Given the description of an element on the screen output the (x, y) to click on. 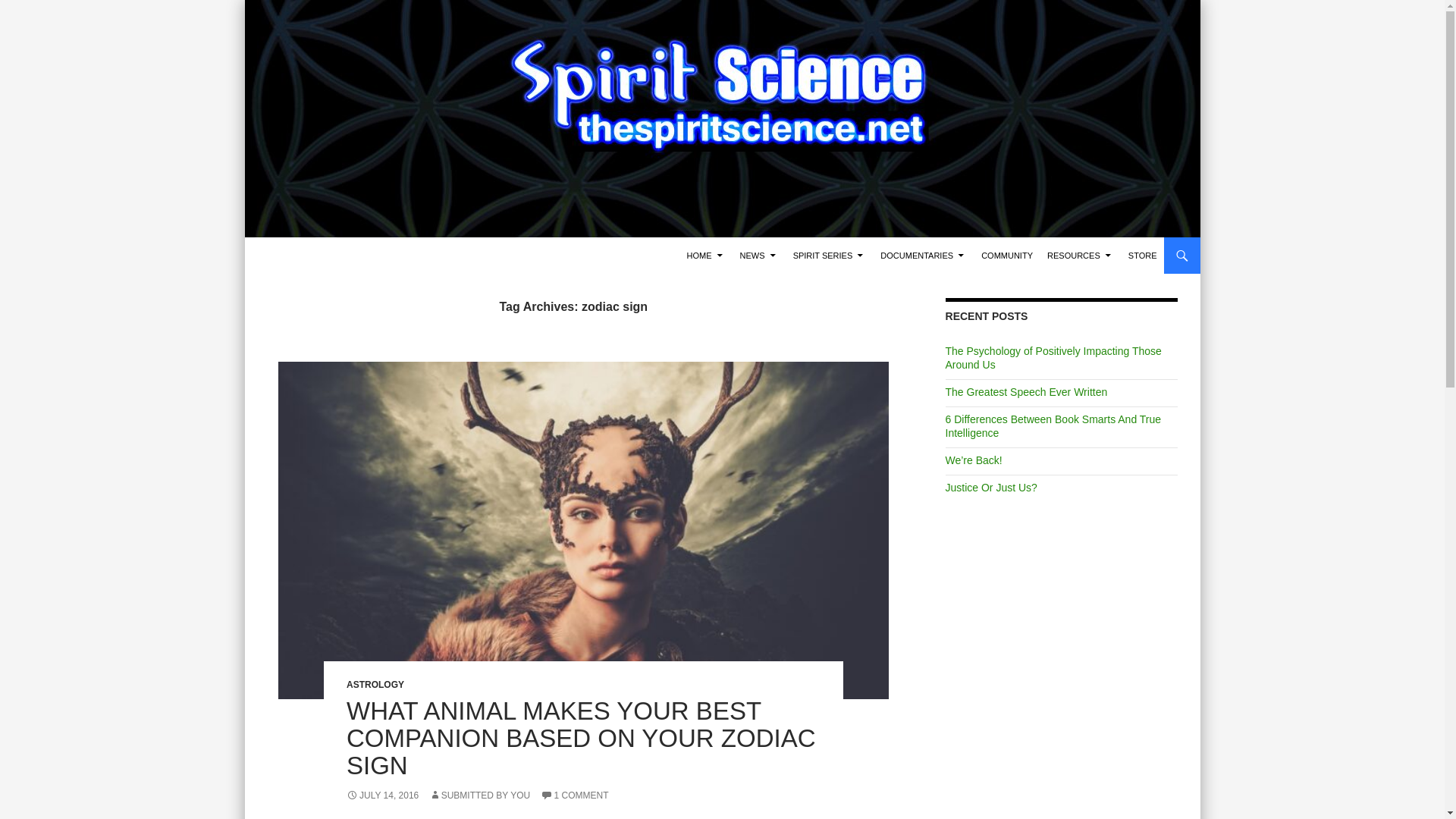
SPIRIT SERIES (829, 255)
NEWS (758, 255)
HOME (706, 255)
